Given the description of an element on the screen output the (x, y) to click on. 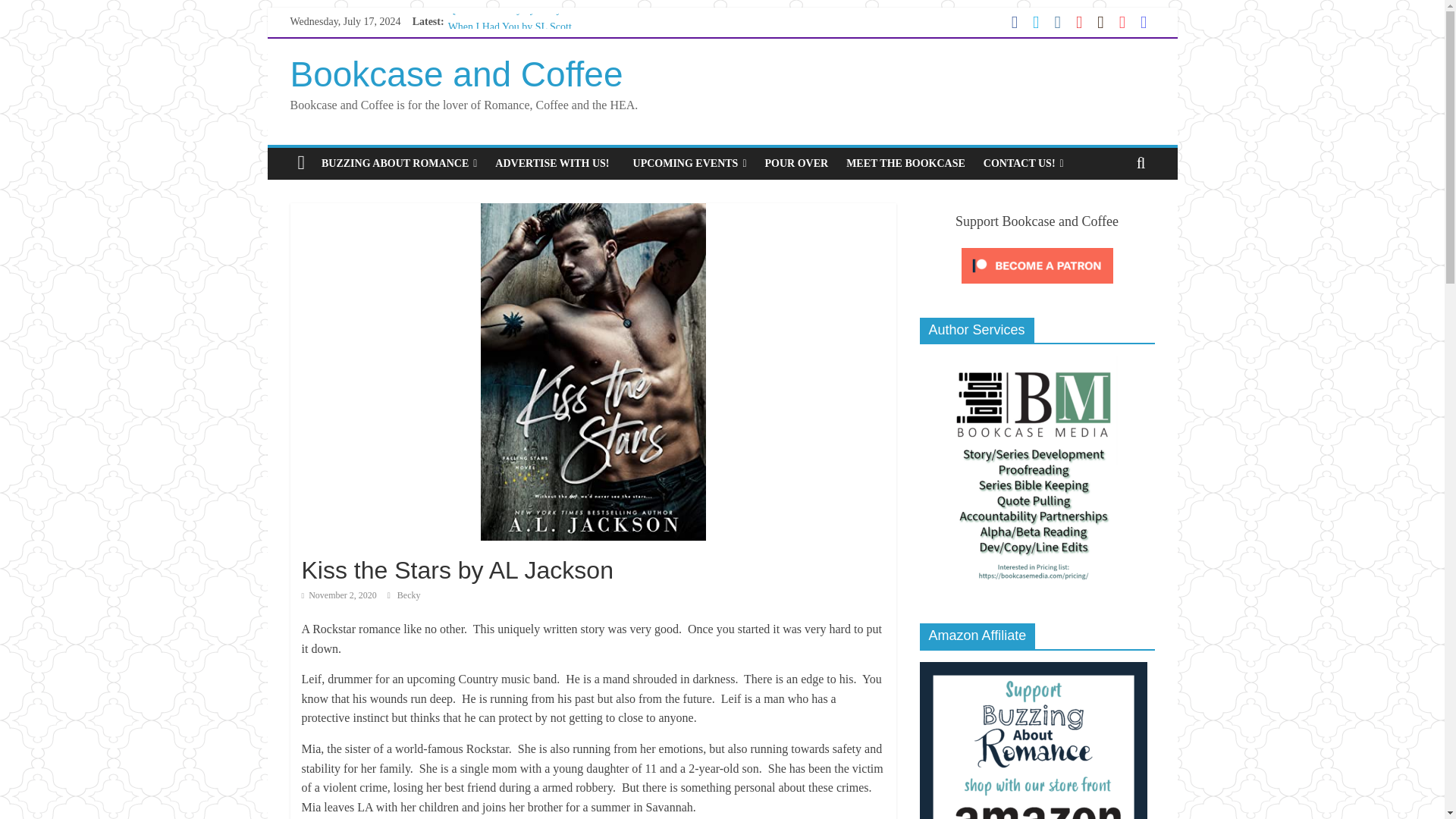
Bookcase and Coffee (456, 74)
Becky (408, 594)
Book Review: Reckless Trust by Nyssa Kathryn (531, 85)
Bookcase and Coffee (456, 74)
BUZZING ABOUT ROMANCE (399, 163)
UPCOMING EVENTS (689, 163)
Becky (408, 594)
9:40 am (339, 594)
POUR OVER (796, 163)
When I Had You by SL Scott (510, 26)
Review: Hold Me Until Morning by A.L. Jackson (535, 51)
When I Had You by SL Scott (510, 26)
CONTACT US! (1023, 163)
QSR: The Steady by Kelly Fox (514, 9)
